Given the description of an element on the screen output the (x, y) to click on. 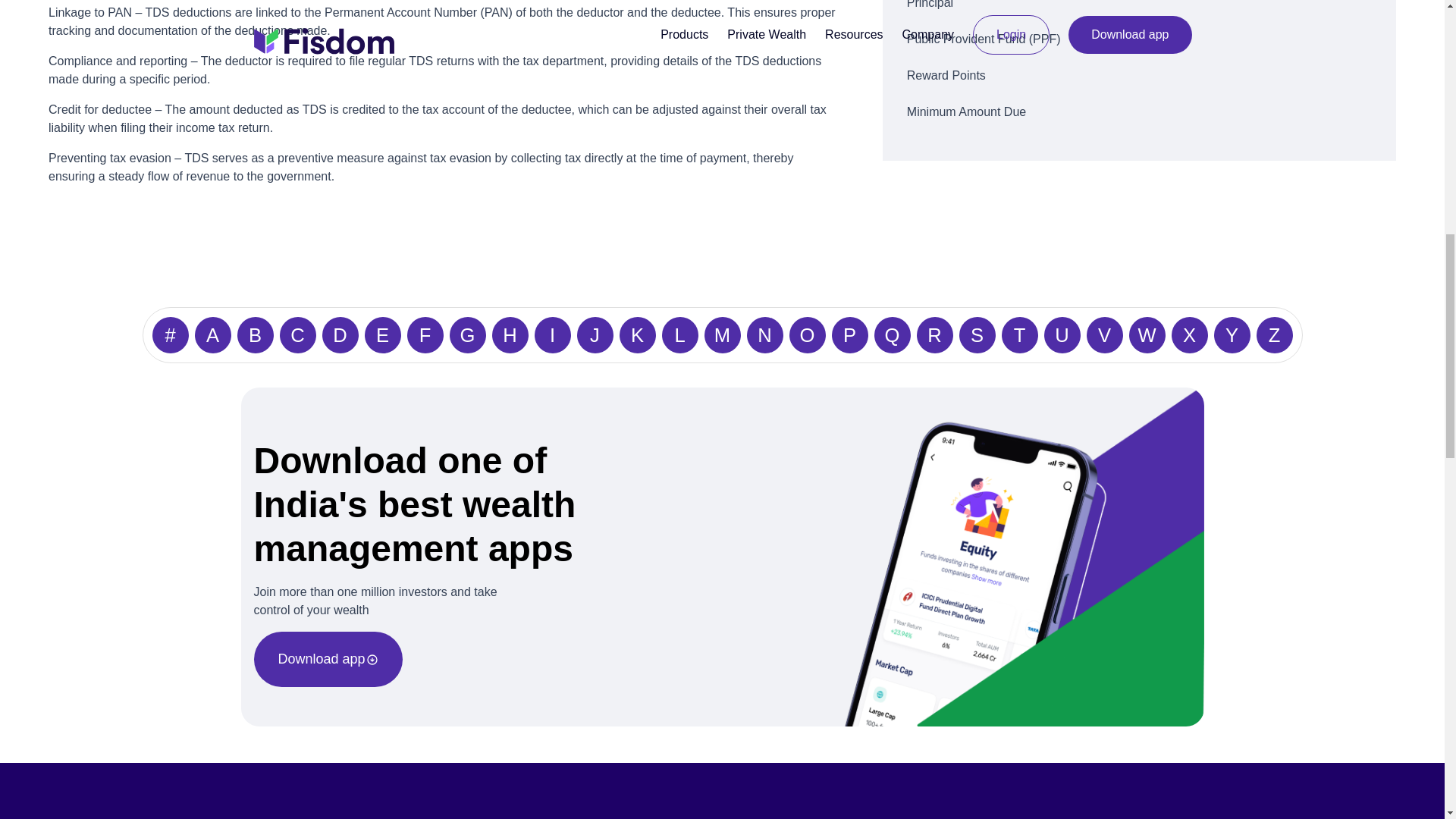
A (211, 334)
Minimum Amount Due (1139, 111)
Principal (1139, 7)
Reward Points (1139, 75)
